Given the description of an element on the screen output the (x, y) to click on. 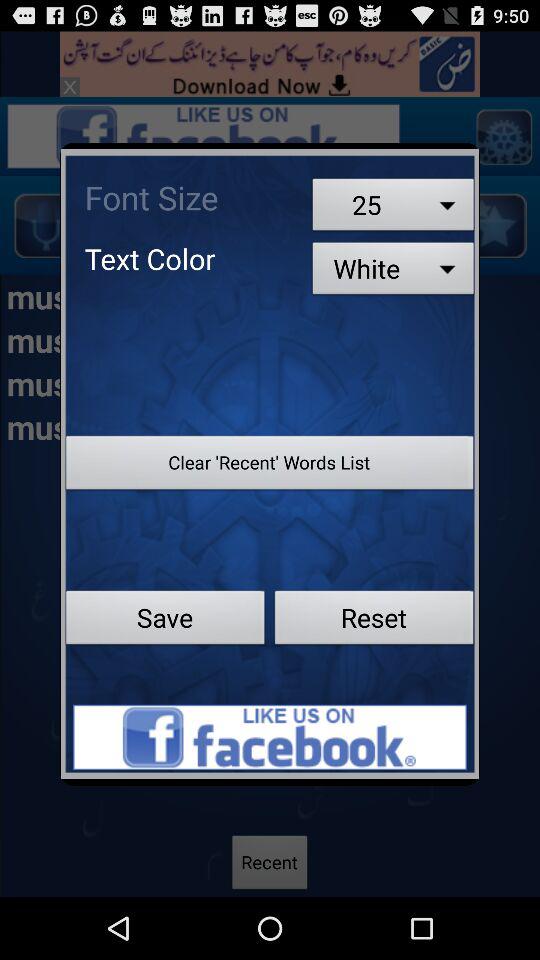
open advertisement (269, 737)
